Given the description of an element on the screen output the (x, y) to click on. 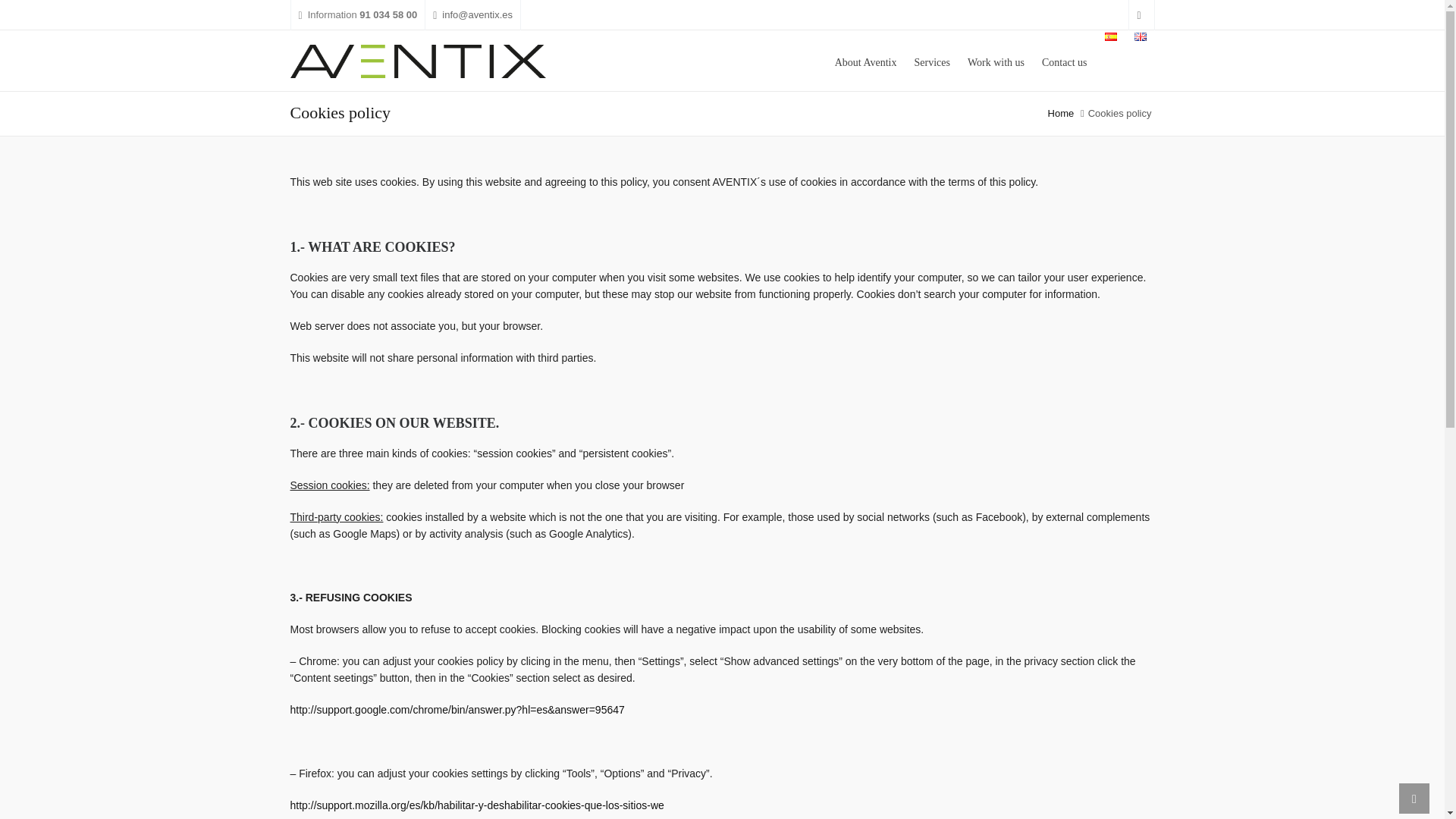
Work with us (995, 60)
Home (1061, 112)
English (1140, 36)
About Aventix (866, 60)
Contact us (1064, 60)
